Given the description of an element on the screen output the (x, y) to click on. 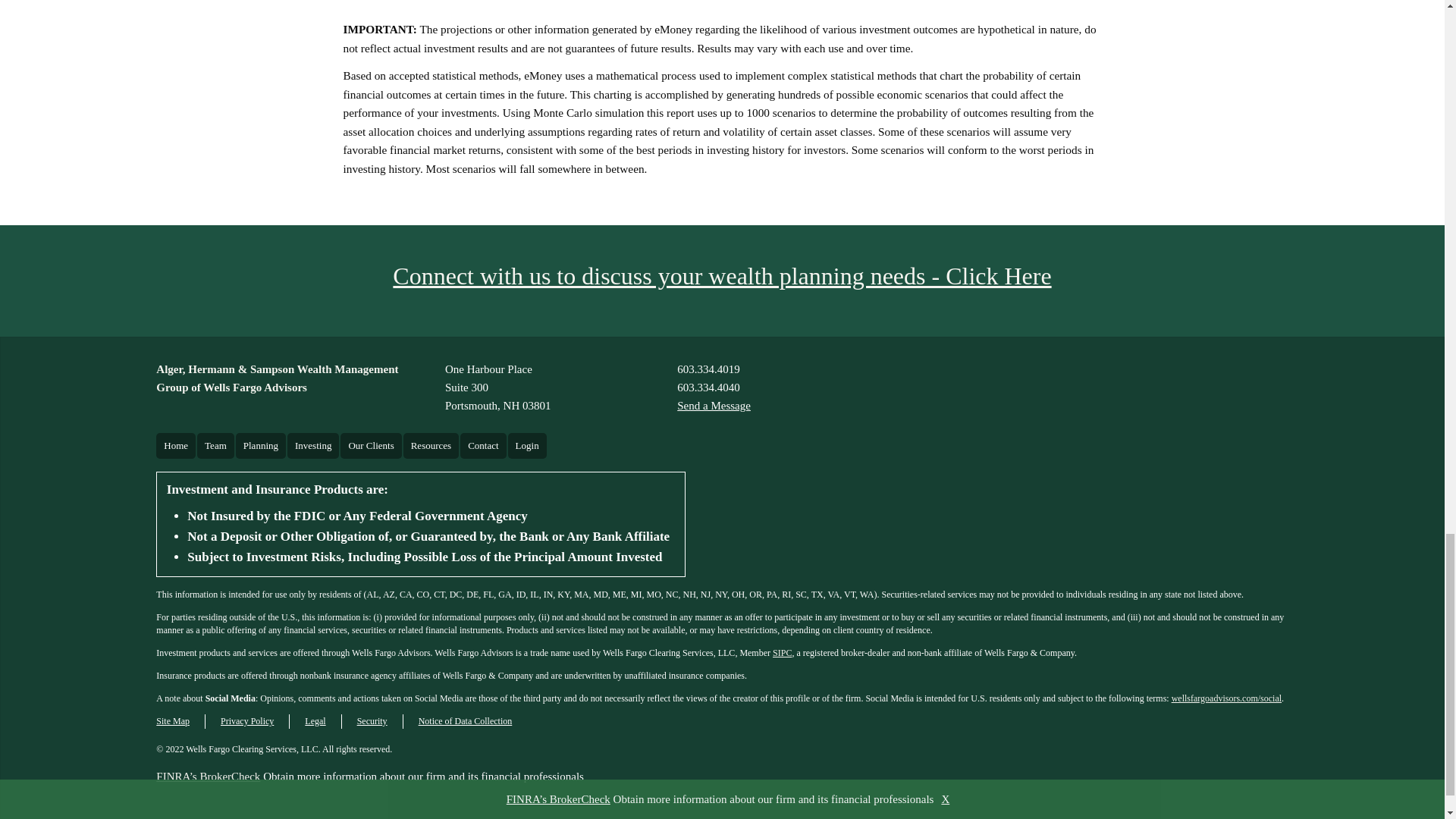
Planning (260, 445)
Home (175, 445)
603.334.4040 (498, 387)
603.334.4019 (708, 387)
Team (708, 369)
Send a Message (215, 445)
